Given the description of an element on the screen output the (x, y) to click on. 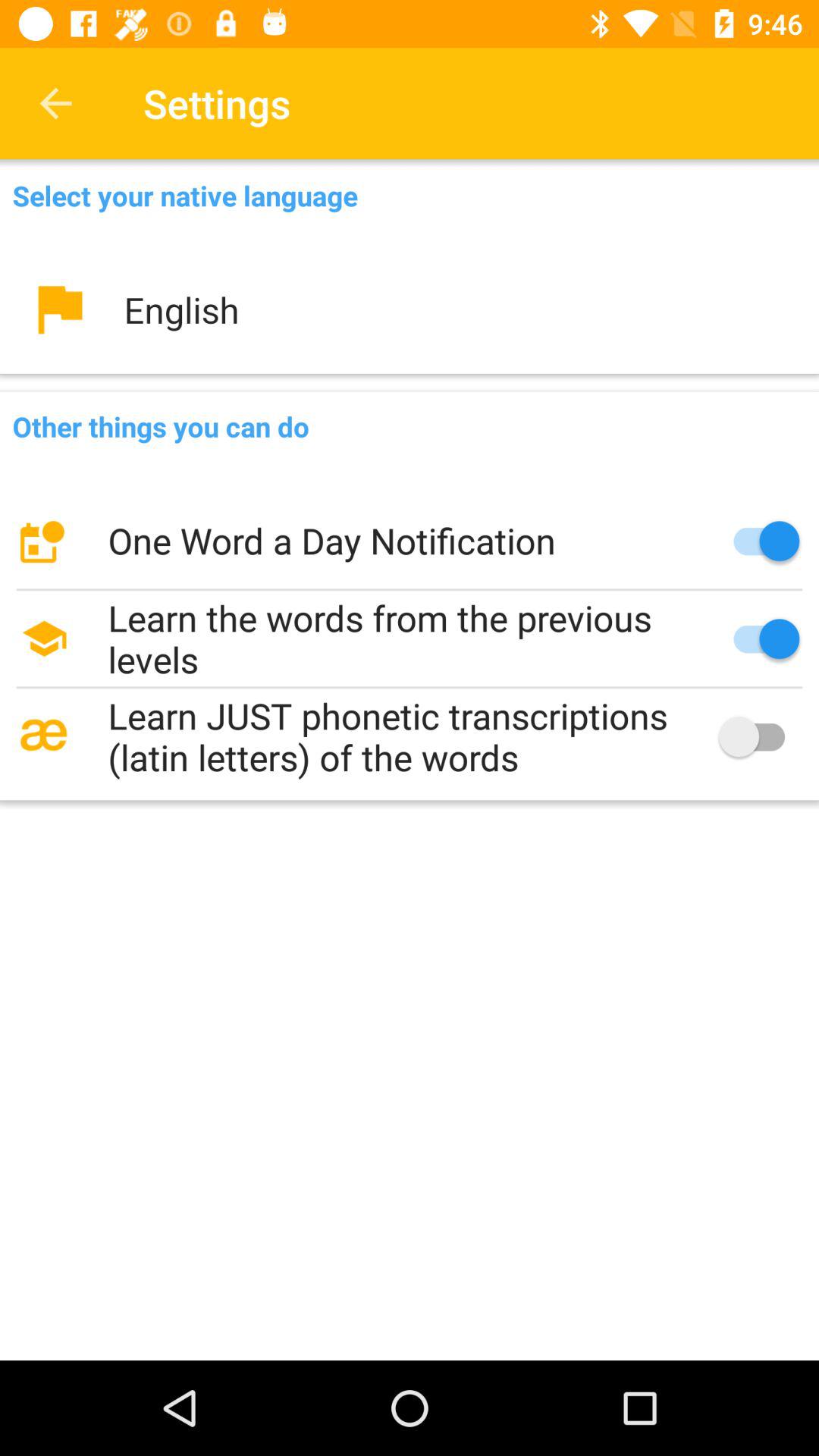
scroll until the english (409, 309)
